Given the description of an element on the screen output the (x, y) to click on. 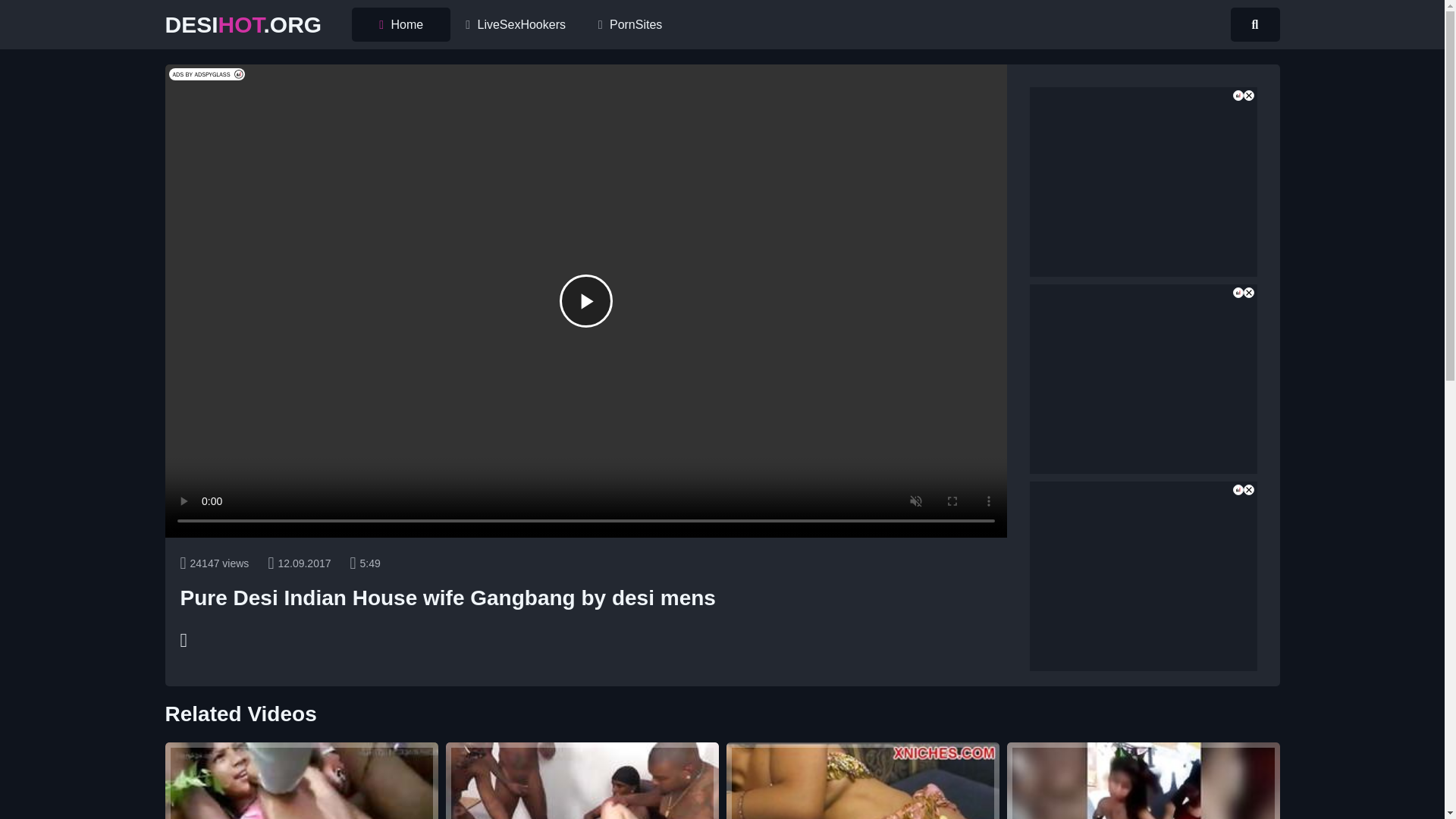
Home (400, 24)
DESIHOT.ORG (1143, 780)
Play Video (243, 24)
PornSites (585, 300)
Play Video (629, 24)
LiveSexHookers (582, 780)
ADS BY ADSPYGLASS (862, 780)
